Given the description of an element on the screen output the (x, y) to click on. 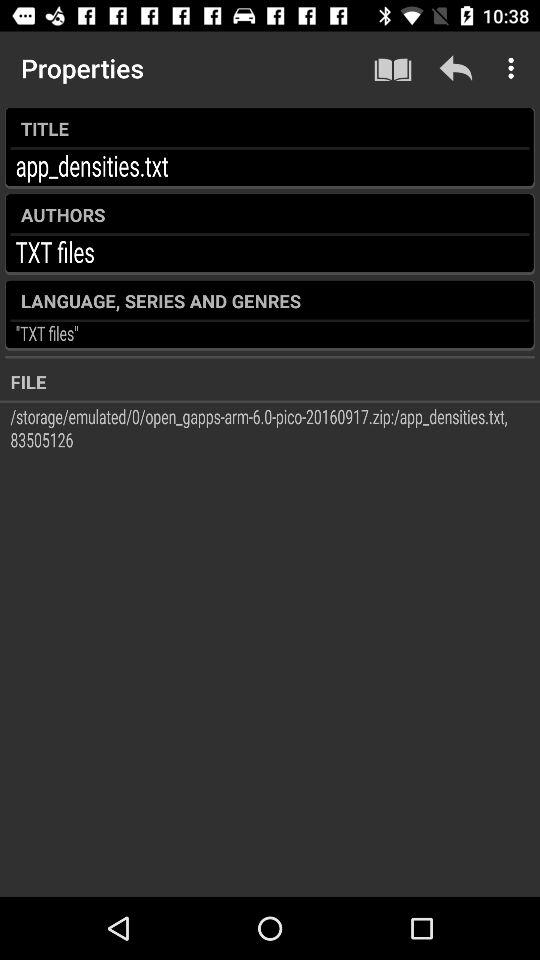
choose the app next to properties icon (392, 67)
